Given the description of an element on the screen output the (x, y) to click on. 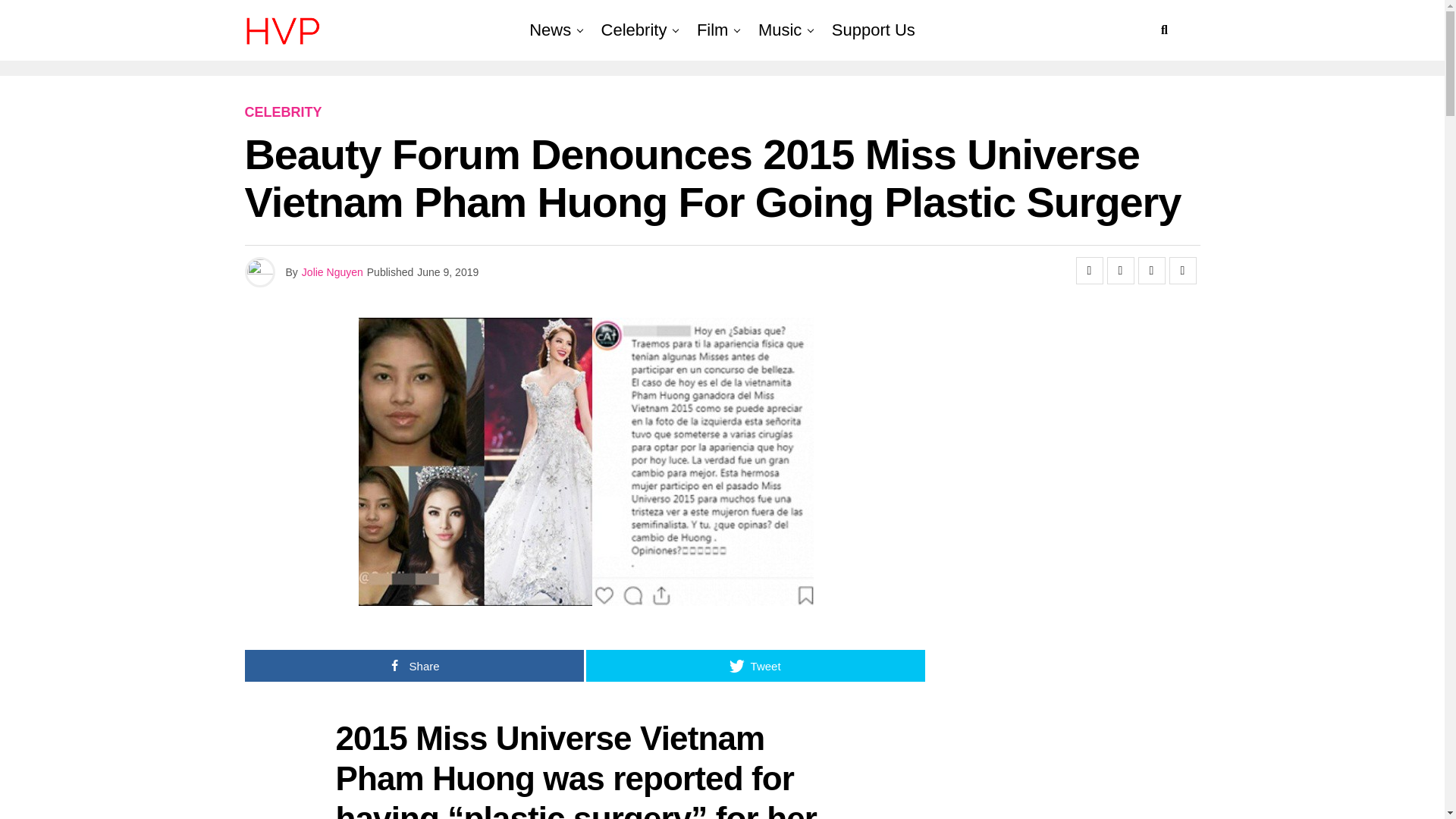
Music (780, 30)
Jolie Nguyen (331, 272)
Tweet This Post (1120, 270)
News (549, 30)
Celebrity (634, 30)
CELEBRITY (282, 112)
Posts by Jolie Nguyen (331, 272)
Support Us (873, 30)
Share on Facebook (1088, 270)
